Given the description of an element on the screen output the (x, y) to click on. 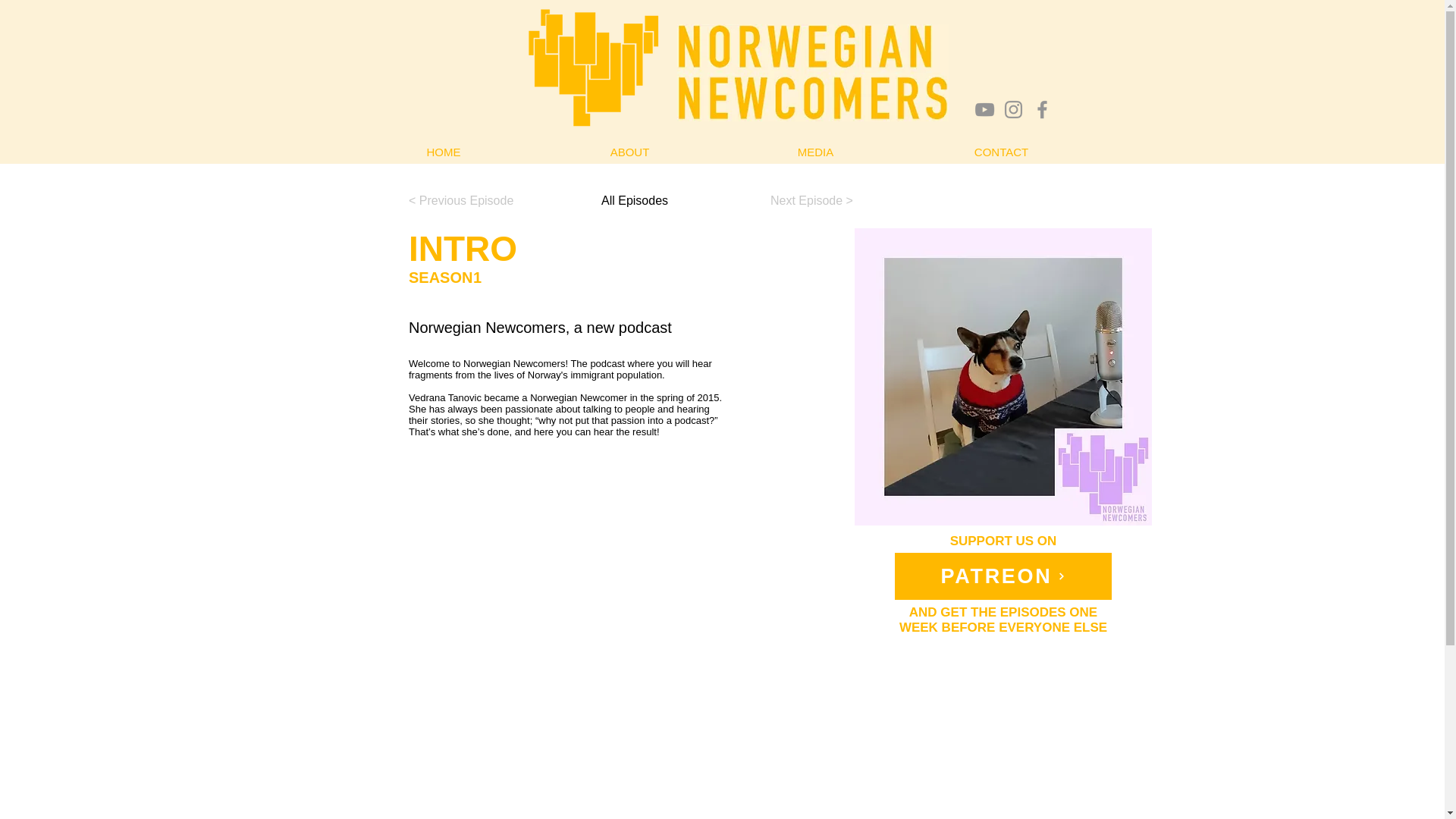
MEDIA (814, 151)
HOME (442, 151)
PATREON (1003, 575)
17942762617411996.jpg (1002, 376)
CONTACT (1001, 151)
ABOUT (629, 151)
All Episodes (634, 201)
